Given the description of an element on the screen output the (x, y) to click on. 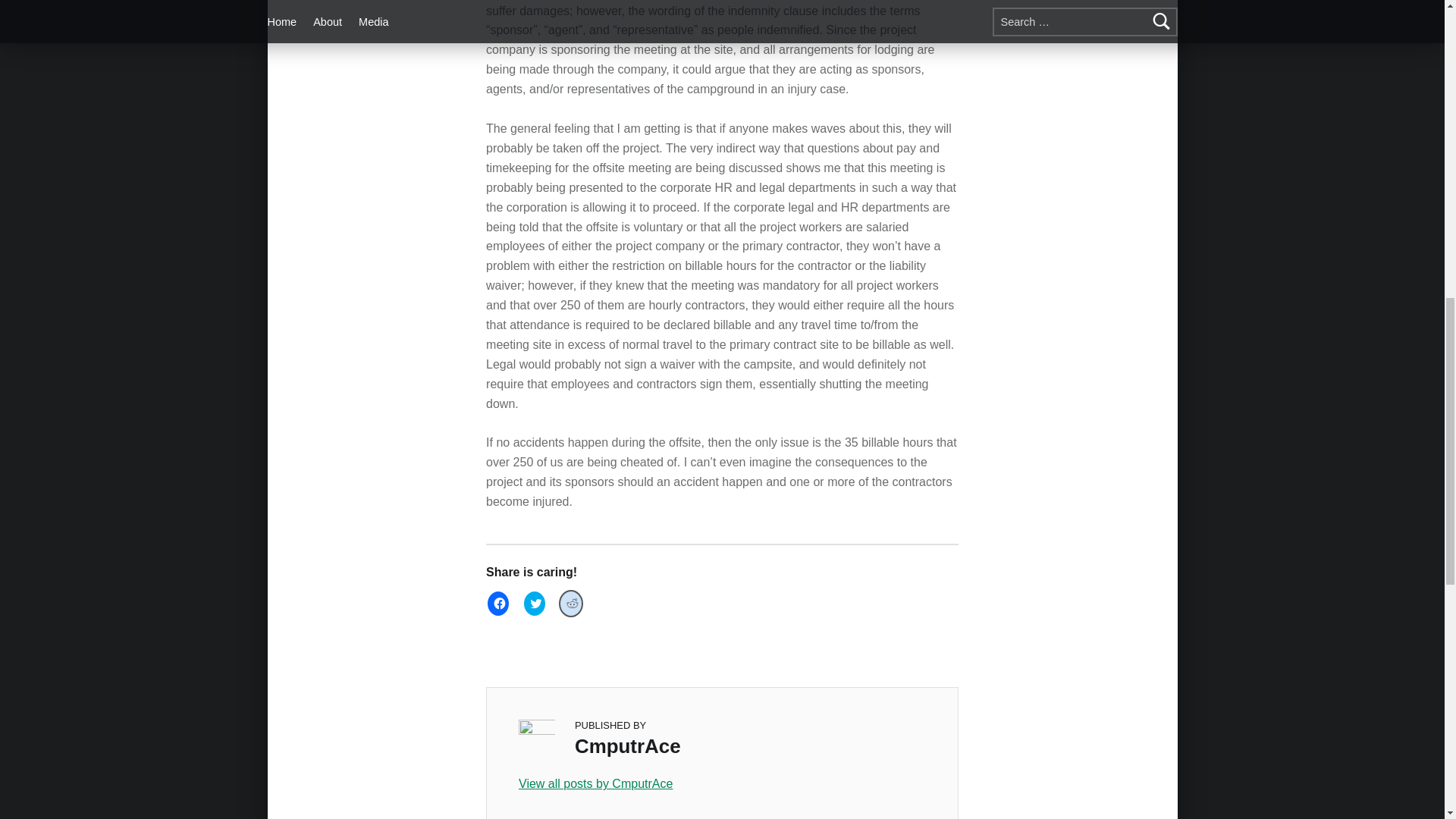
Click to share on Facebook (498, 603)
Click to share on Twitter (534, 603)
Click to share on Reddit (571, 603)
View all posts by CmputrAce (722, 783)
